Given the description of an element on the screen output the (x, y) to click on. 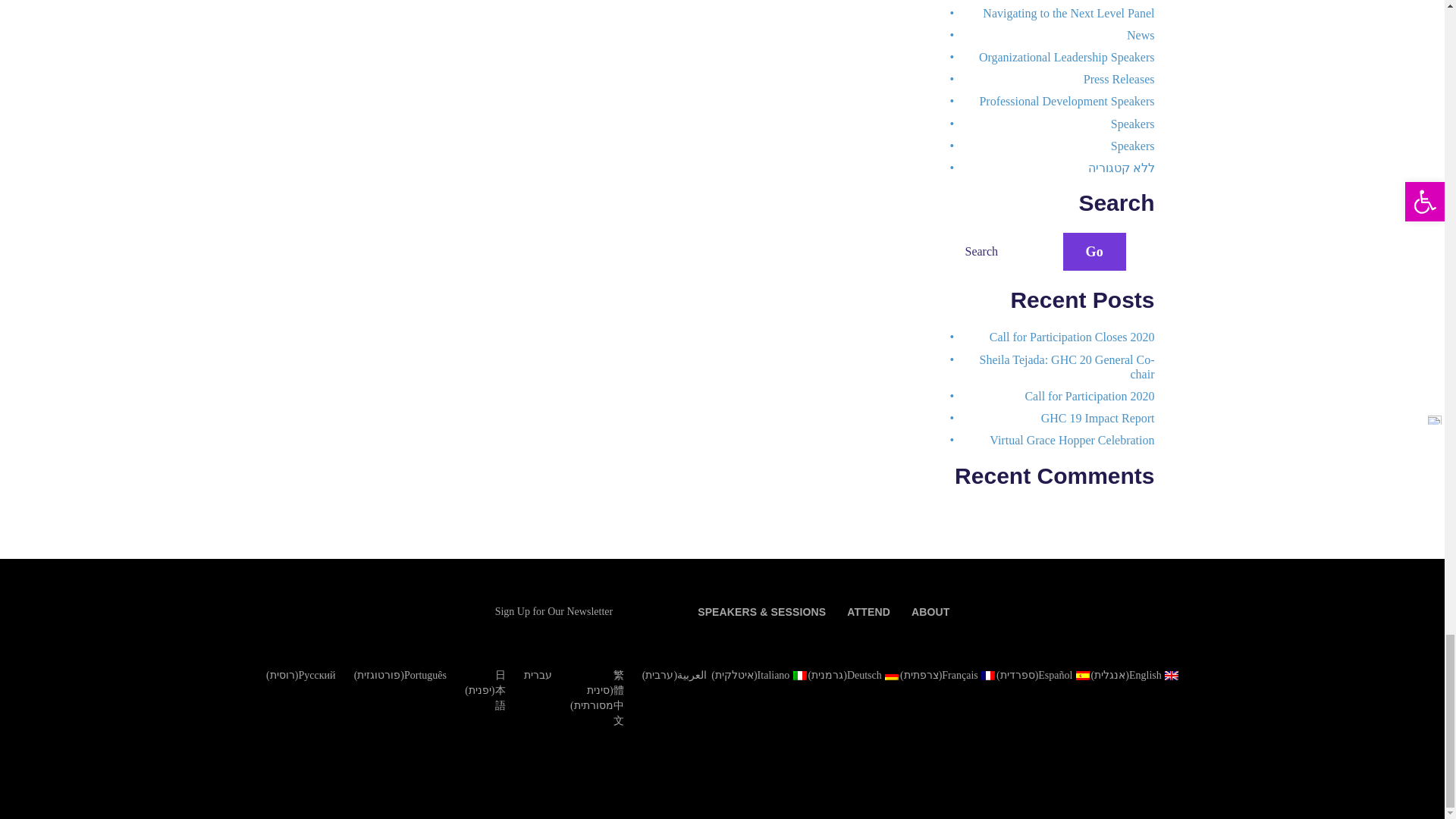
Go (1094, 251)
